Given the description of an element on the screen output the (x, y) to click on. 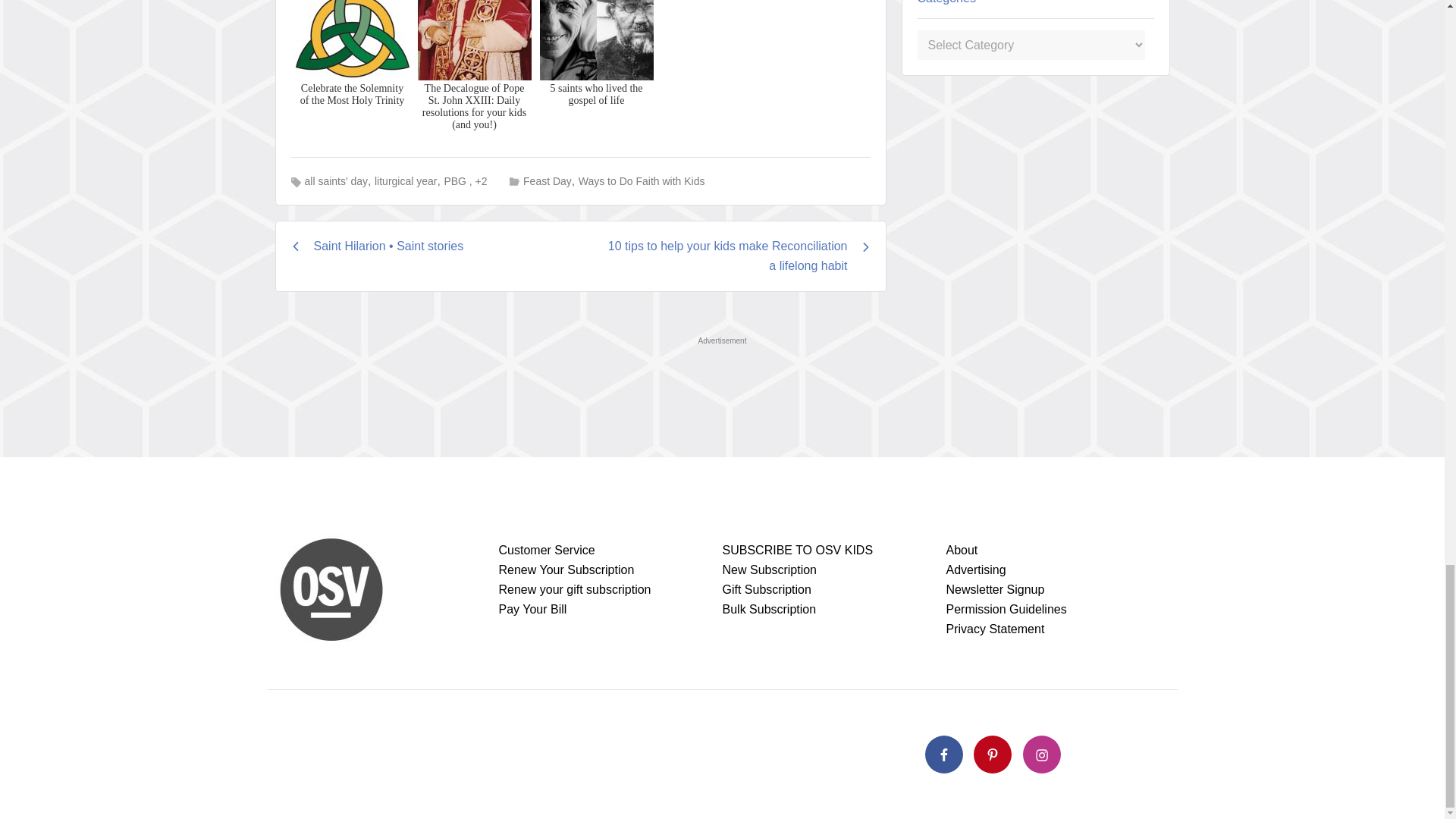
3rd party ad content (721, 385)
all saints' day (336, 181)
Ways to Do Faith with Kids (641, 180)
liturgical year (405, 181)
Feast Day (547, 180)
PBG (454, 181)
